Given the description of an element on the screen output the (x, y) to click on. 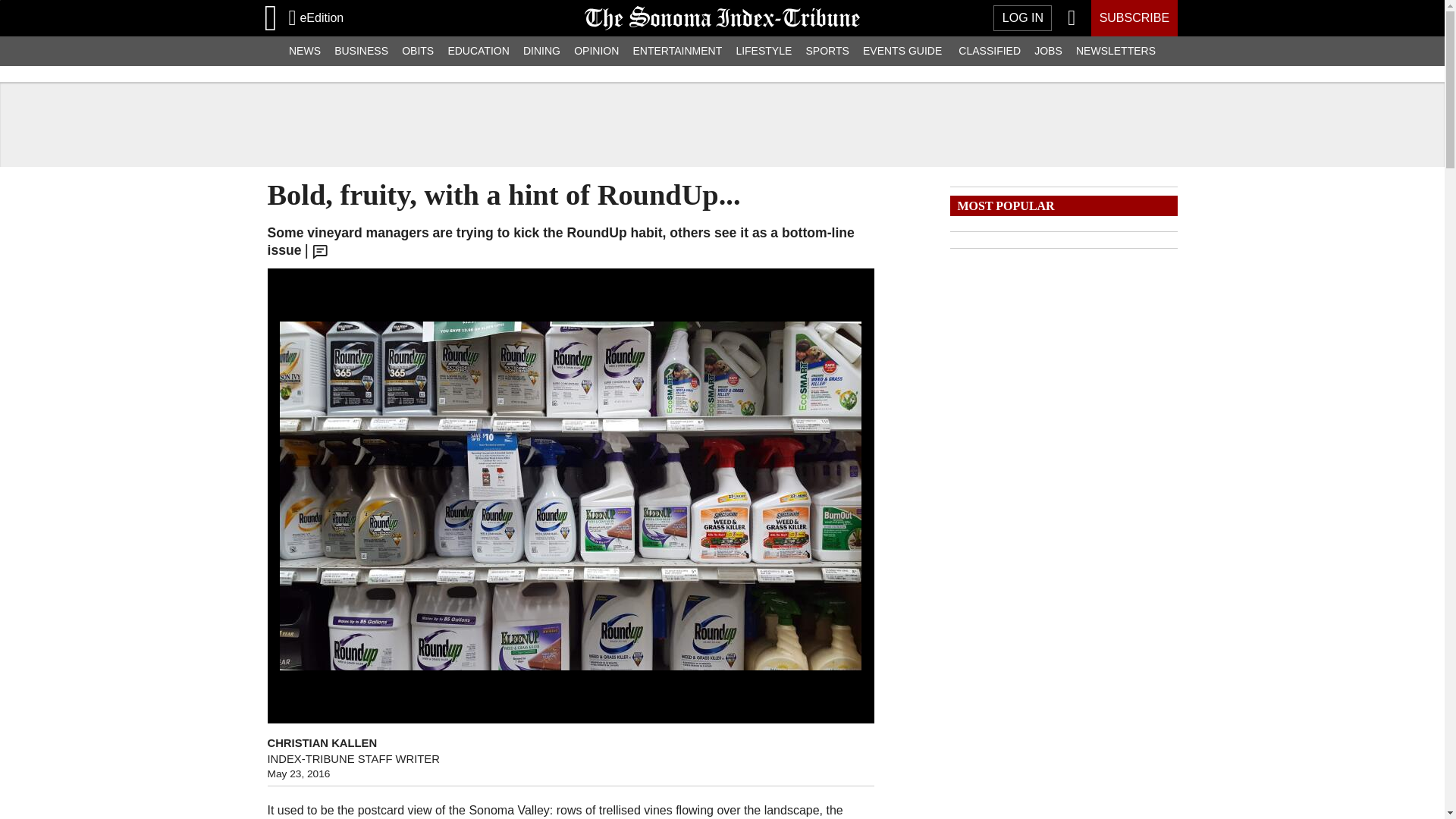
LIFESTYLE (763, 51)
EDUCATION (478, 51)
SUBSCRIBE (1133, 18)
JOBS (1047, 51)
eEdition (315, 17)
OBITS (417, 51)
OPINION (596, 51)
EVENTS GUIDE (902, 51)
BUSINESS (360, 51)
SPORTS (826, 51)
CLASSIFIED (989, 51)
LOG IN (1021, 17)
ENTERTAINMENT (677, 51)
NEWS (304, 51)
